Given the description of an element on the screen output the (x, y) to click on. 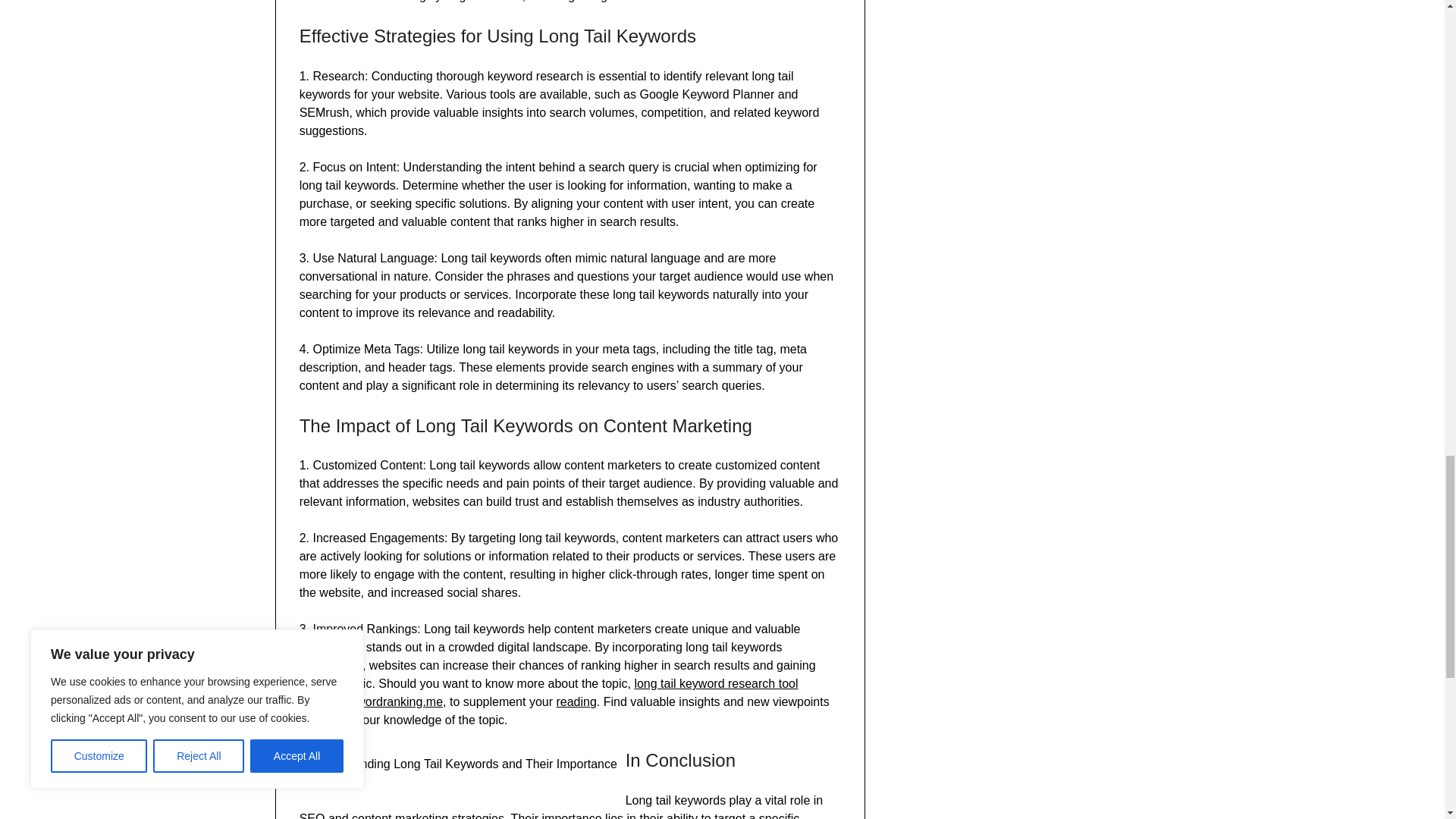
reading (575, 701)
